Given the description of an element on the screen output the (x, y) to click on. 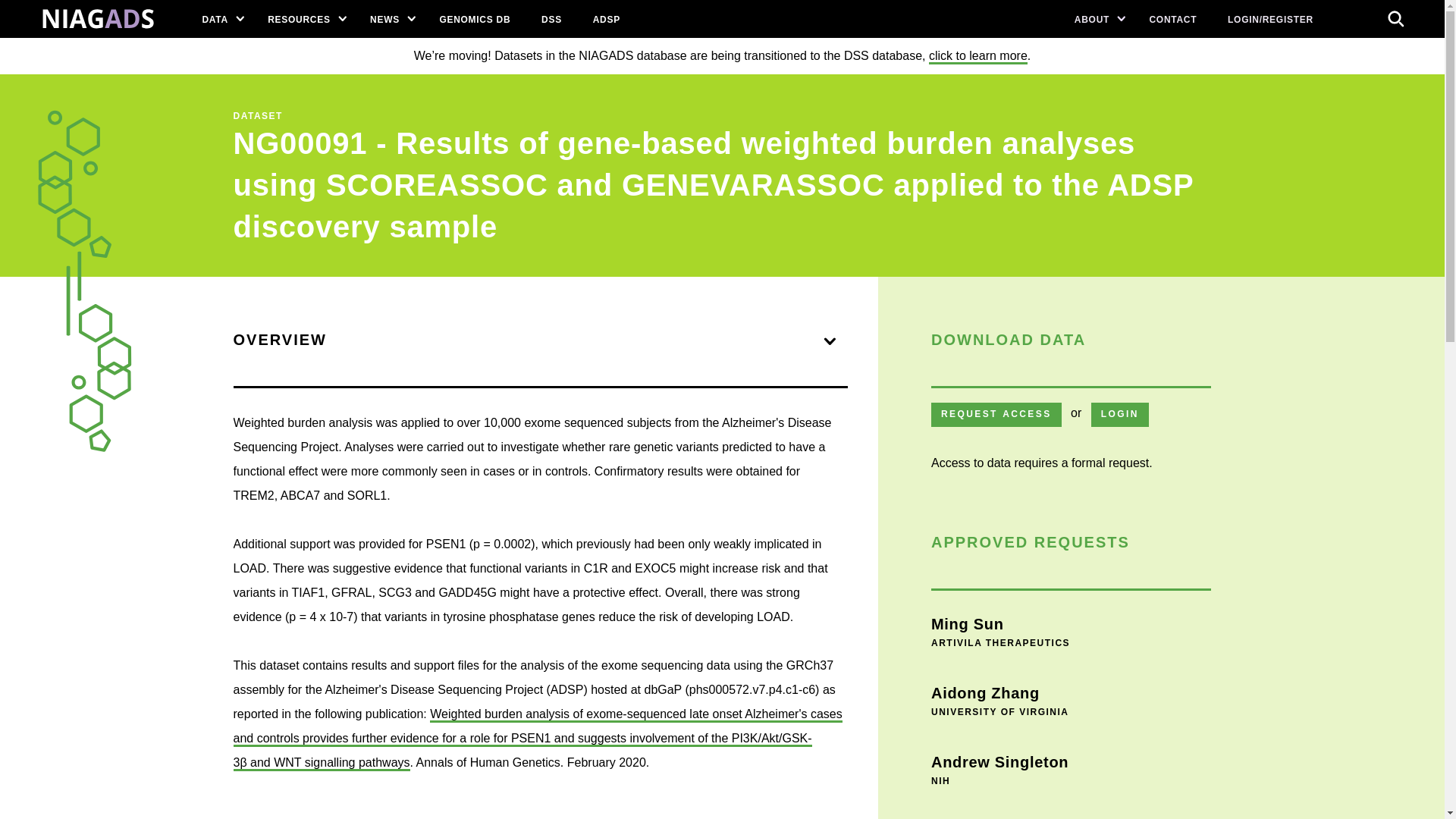
ADSP (605, 18)
DSS (551, 18)
NEWS (389, 18)
GENOMICS DB (474, 18)
RESOURCES (303, 18)
ABOUT (1096, 18)
DATA (218, 18)
